Given the description of an element on the screen output the (x, y) to click on. 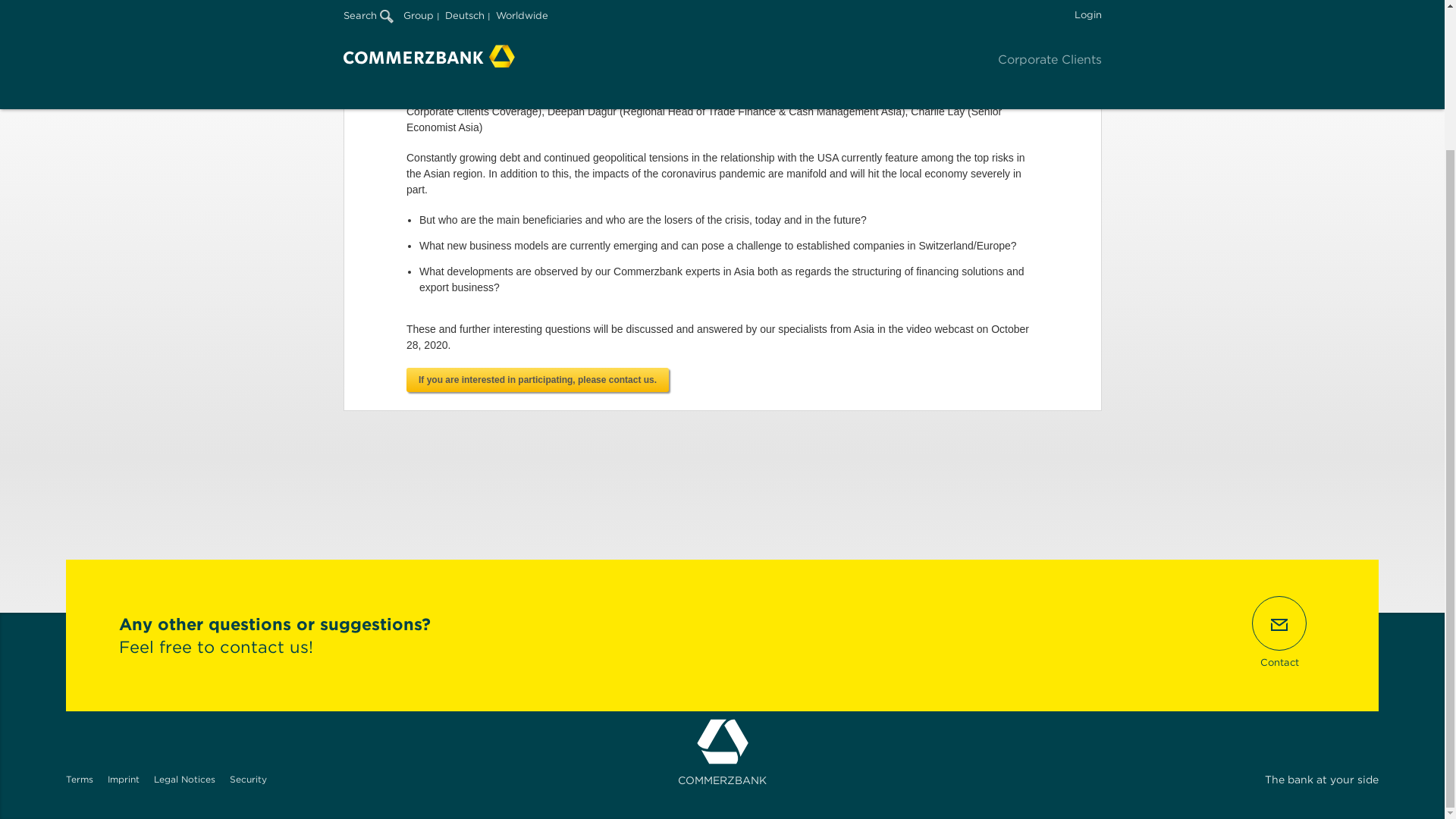
Our Contacts Commerzbank Switzerland (537, 379)
Terms (79, 778)
Legal Notices (184, 778)
If you are interested in participating, please contact us. (537, 379)
Security (248, 778)
Imprint (123, 778)
logo Commerzbank (722, 741)
